Given the description of an element on the screen output the (x, y) to click on. 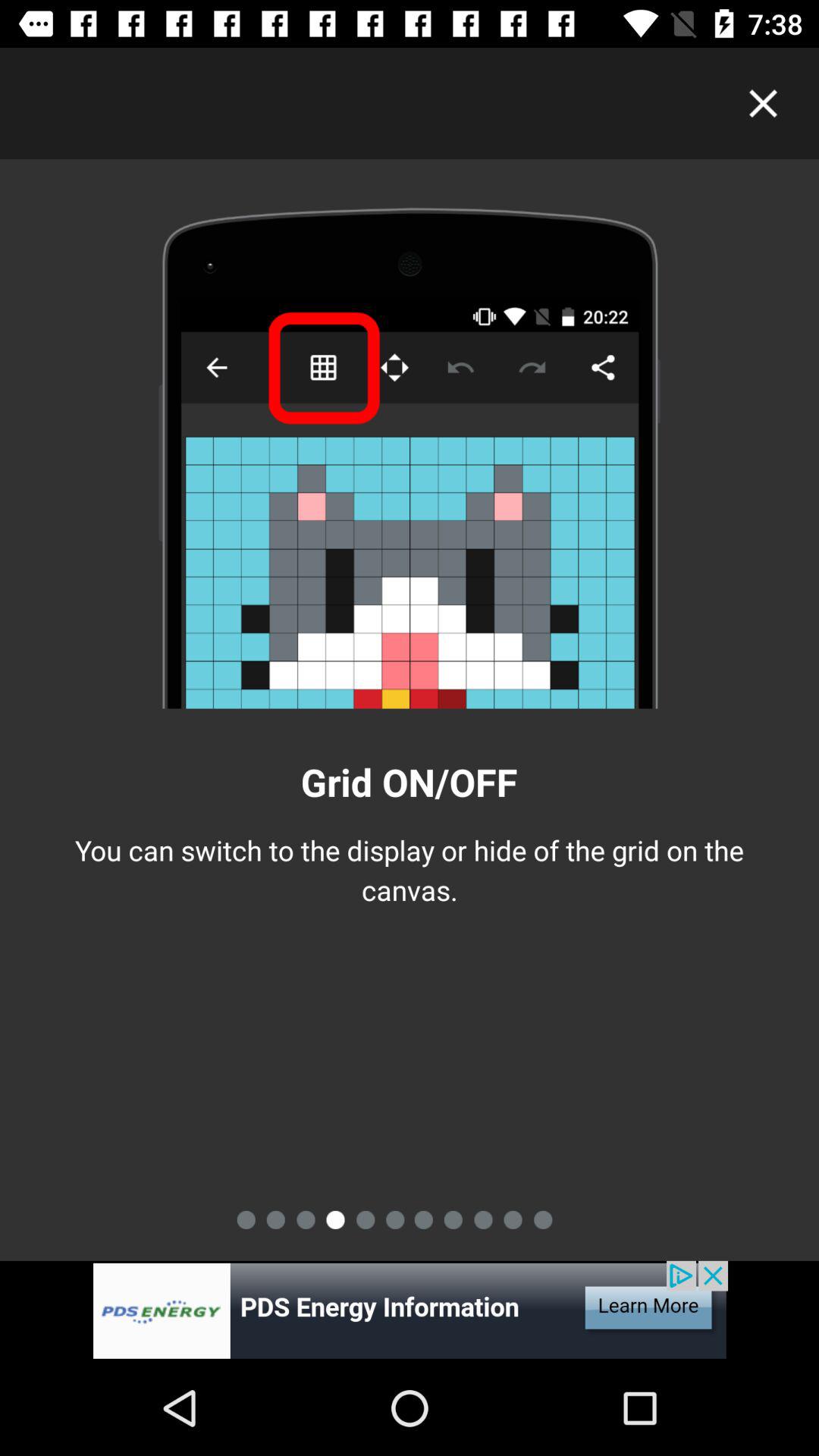
close window (763, 103)
